Given the description of an element on the screen output the (x, y) to click on. 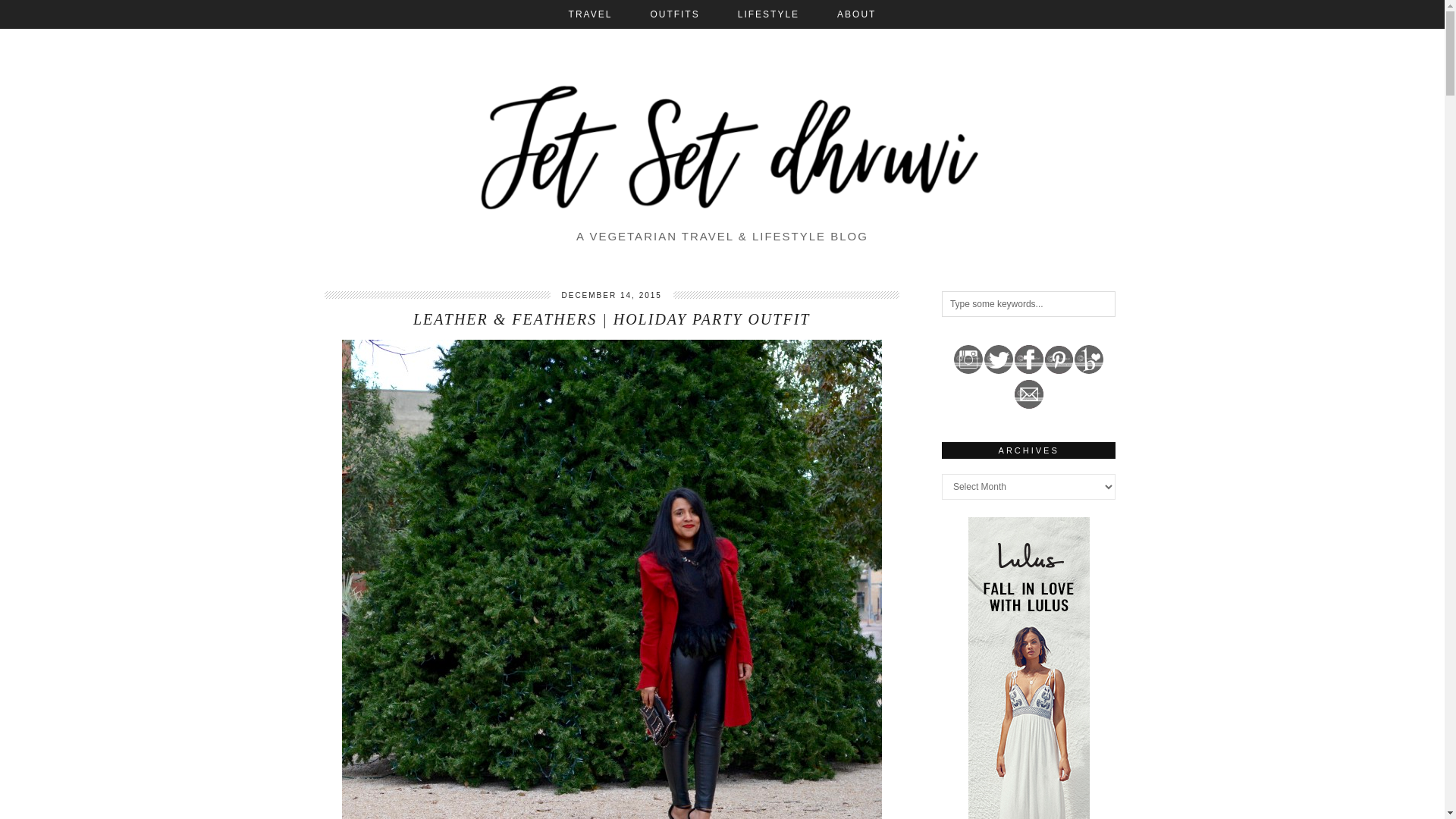
Personal Style (673, 14)
TRAVEL (590, 14)
Jet Set Dhruvi (722, 143)
LIFESTYLE (768, 14)
Travel Guides (590, 14)
OUTFITS (673, 14)
ABOUT (856, 14)
